Given the description of an element on the screen output the (x, y) to click on. 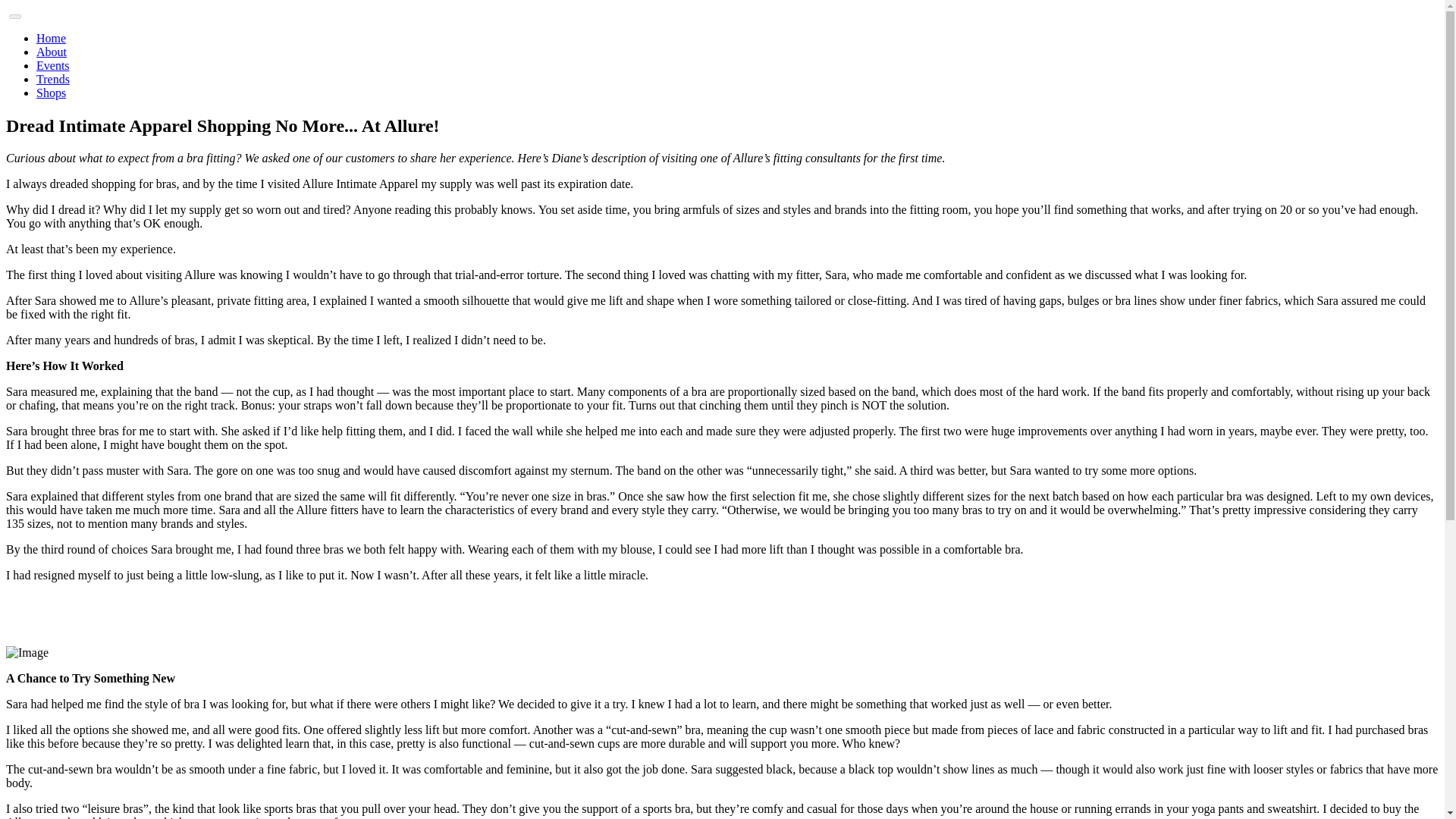
Home (50, 38)
Events (52, 65)
Trends (52, 78)
Shops (50, 92)
About (51, 51)
